Given the description of an element on the screen output the (x, y) to click on. 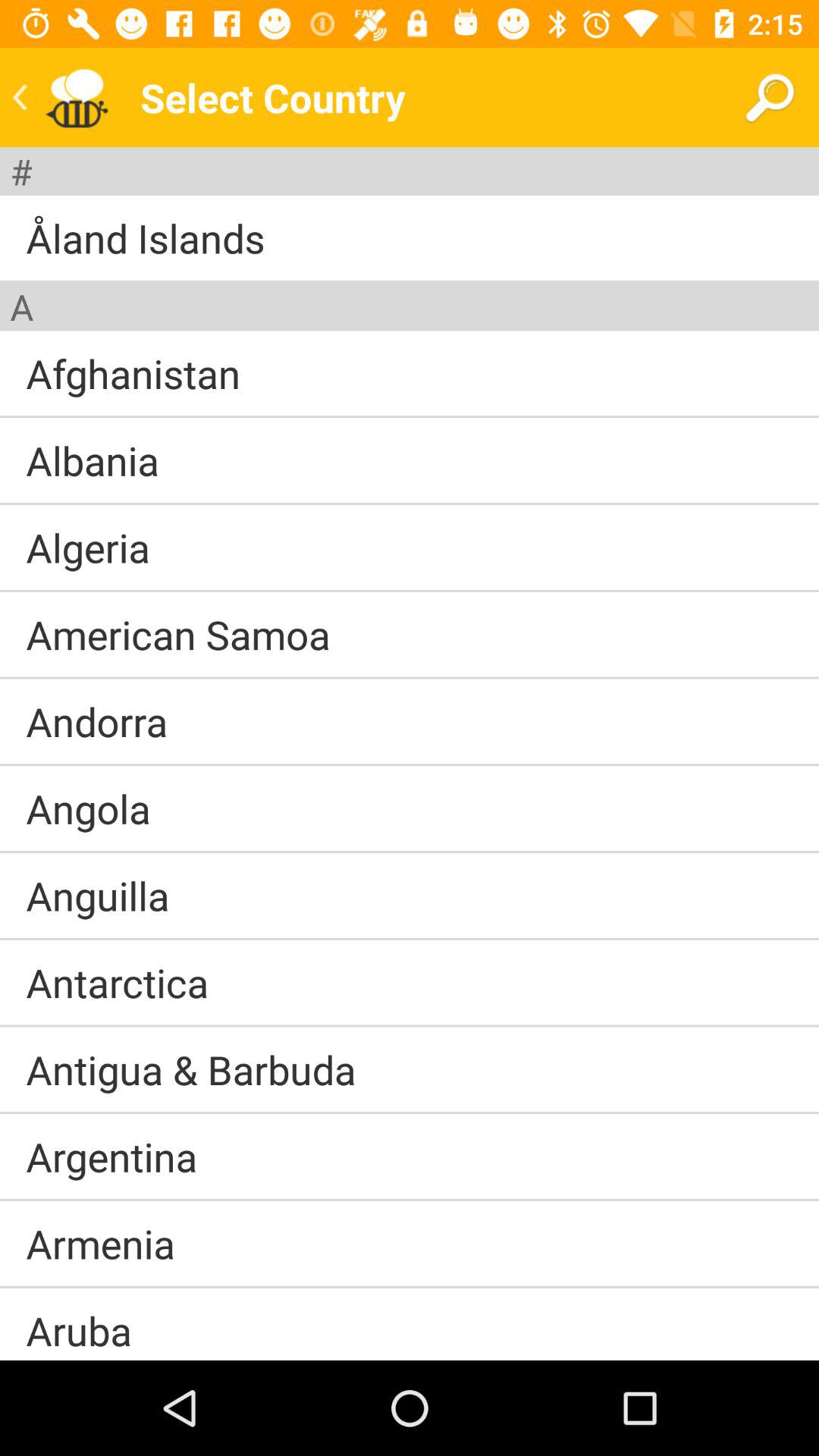
flip to andorra (96, 721)
